Given the description of an element on the screen output the (x, y) to click on. 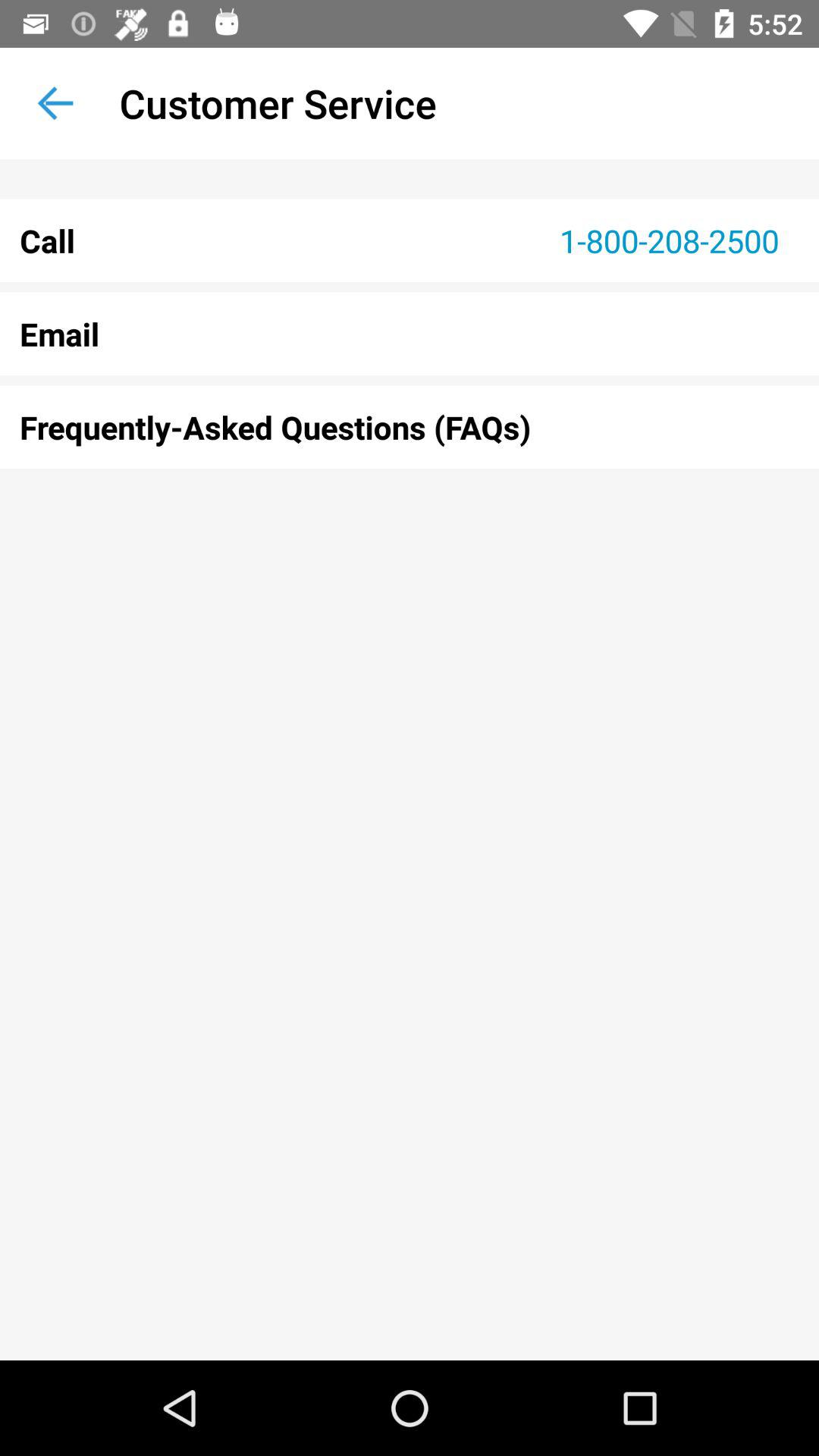
turn on the icon above frequently asked questions (409, 333)
